Given the description of an element on the screen output the (x, y) to click on. 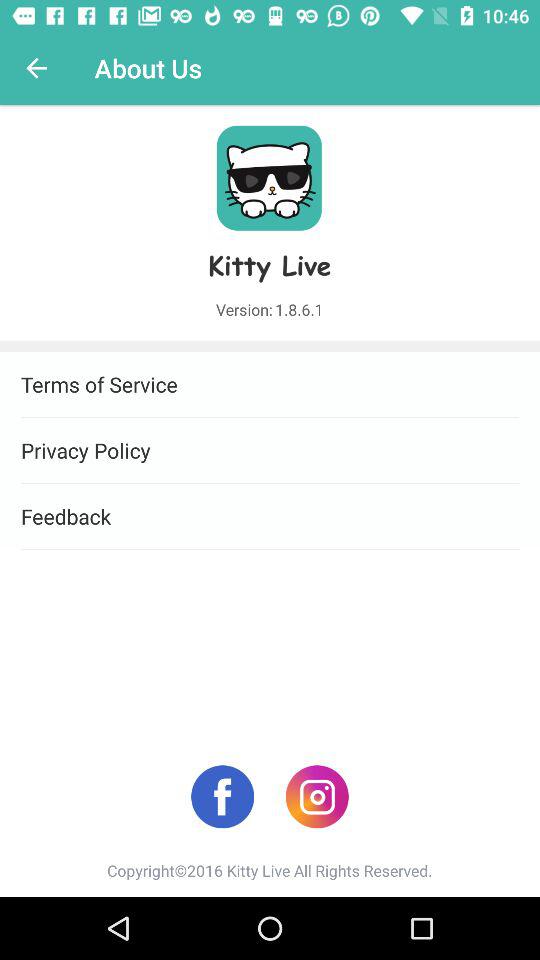
turn on icon to the left of the about us (36, 68)
